Given the description of an element on the screen output the (x, y) to click on. 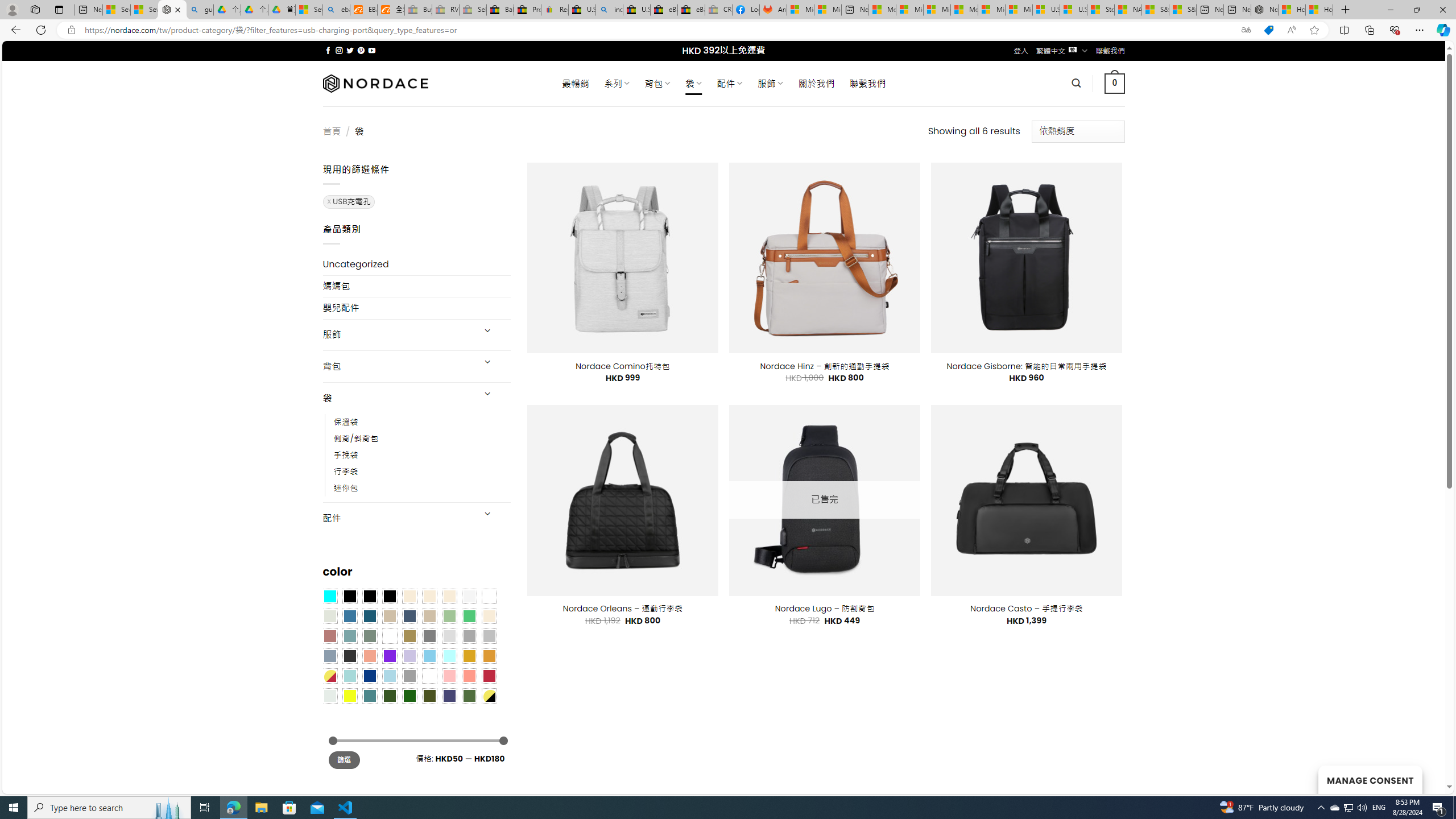
Uncategorized (416, 264)
Address and search bar (658, 29)
Sell worldwide with eBay - Sleeping (473, 9)
S&P 500, Nasdaq end lower, weighed by Nvidia dip | Watch (1182, 9)
